Given the description of an element on the screen output the (x, y) to click on. 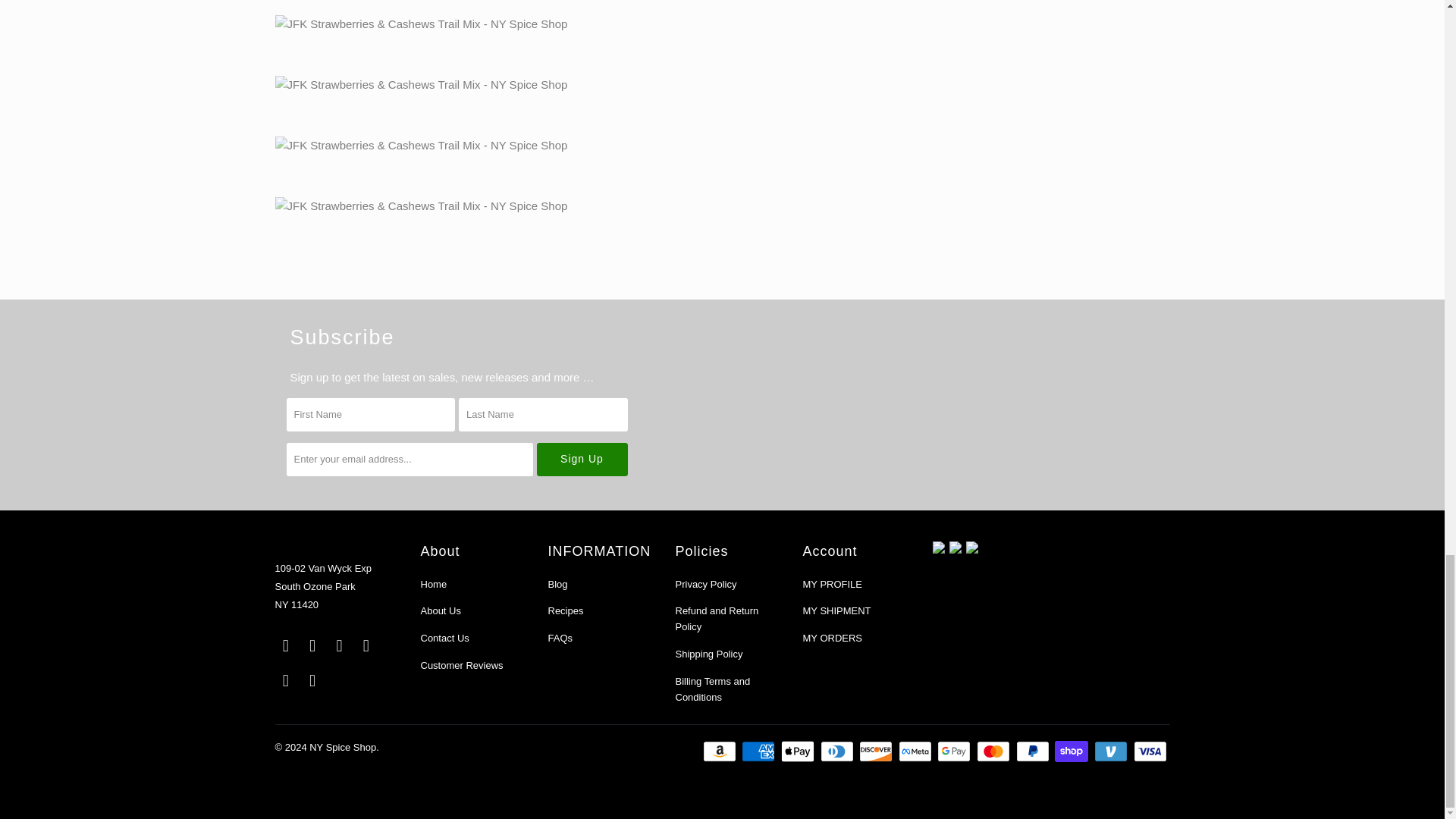
Diners Club (839, 751)
American Express (759, 751)
Shop Pay (1072, 751)
Apple Pay (798, 751)
Mastercard (994, 751)
Venmo (1112, 751)
Sign Up (582, 459)
Meta Pay (916, 751)
PayPal (1034, 751)
Google Pay (955, 751)
